Given the description of an element on the screen output the (x, y) to click on. 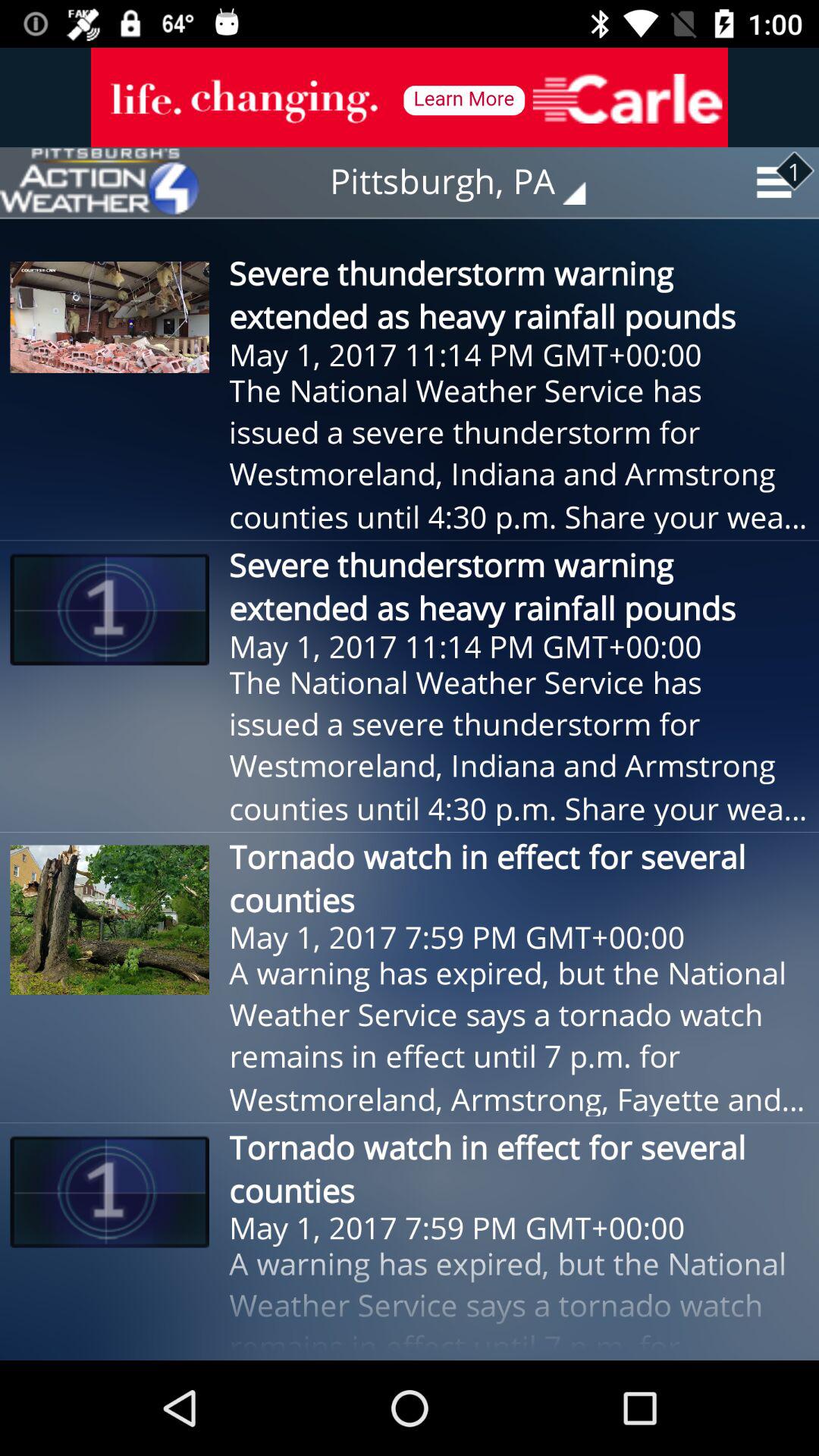
click to see weather (99, 182)
